Given the description of an element on the screen output the (x, y) to click on. 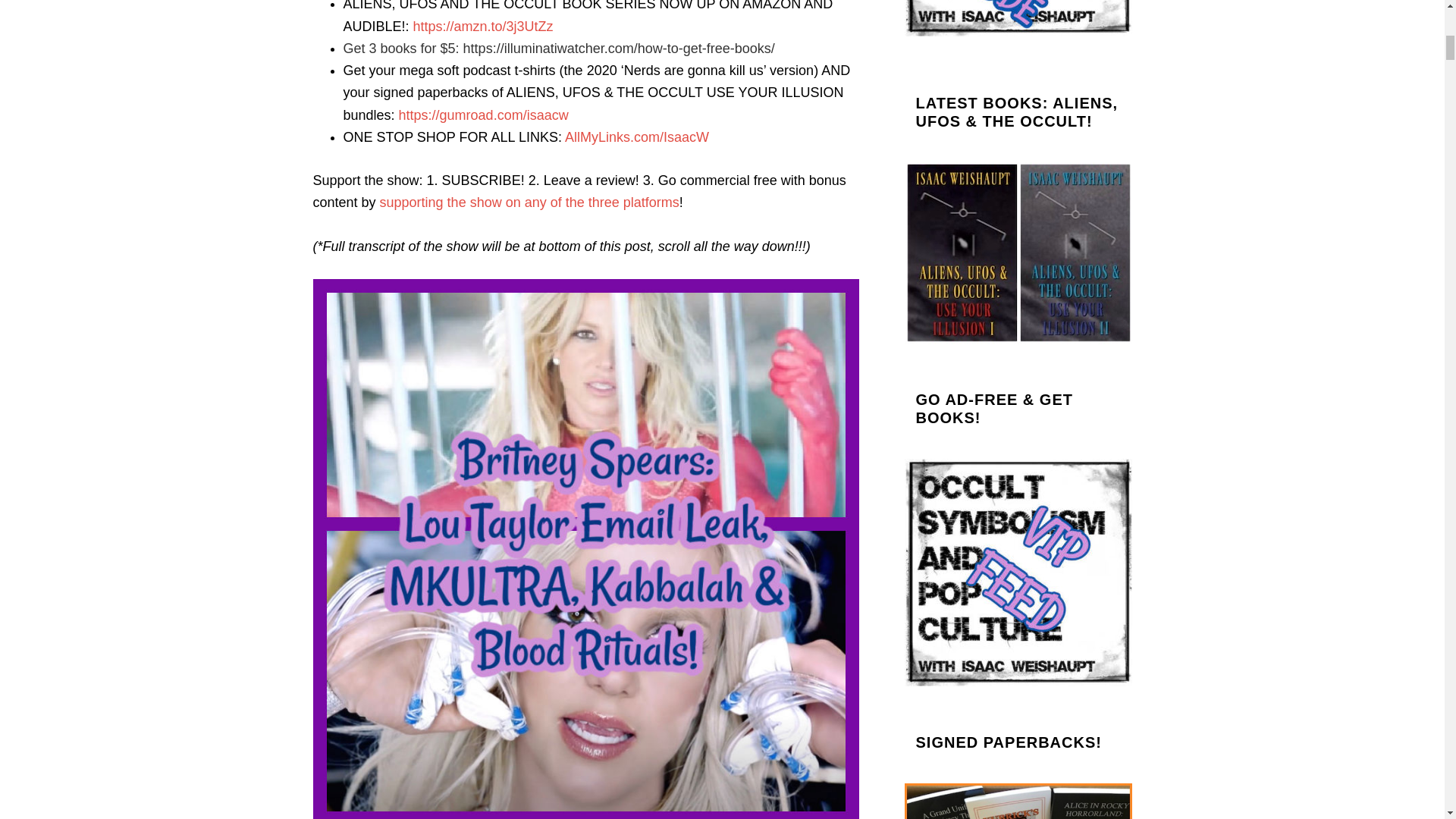
supporting the show on any of the three platforms (529, 201)
